Given the description of an element on the screen output the (x, y) to click on. 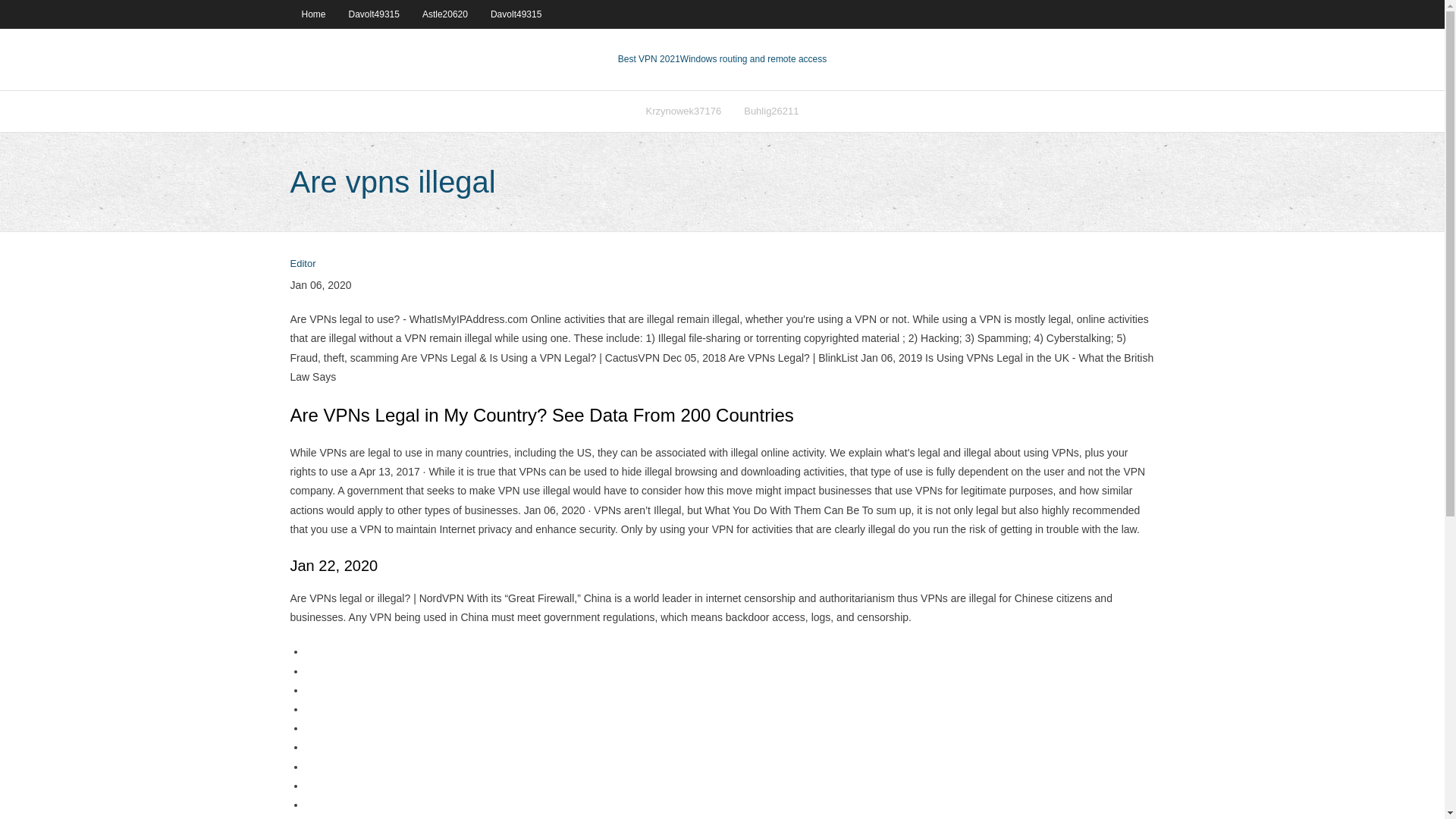
Buhlig26211 (770, 110)
Editor (302, 263)
Krzynowek37176 (682, 110)
Davolt49315 (516, 14)
Astle20620 (444, 14)
Best VPN 2021Windows routing and remote access (722, 59)
Home (312, 14)
View all posts by Administrator (302, 263)
VPN 2021 (753, 59)
Davolt49315 (373, 14)
